Given the description of an element on the screen output the (x, y) to click on. 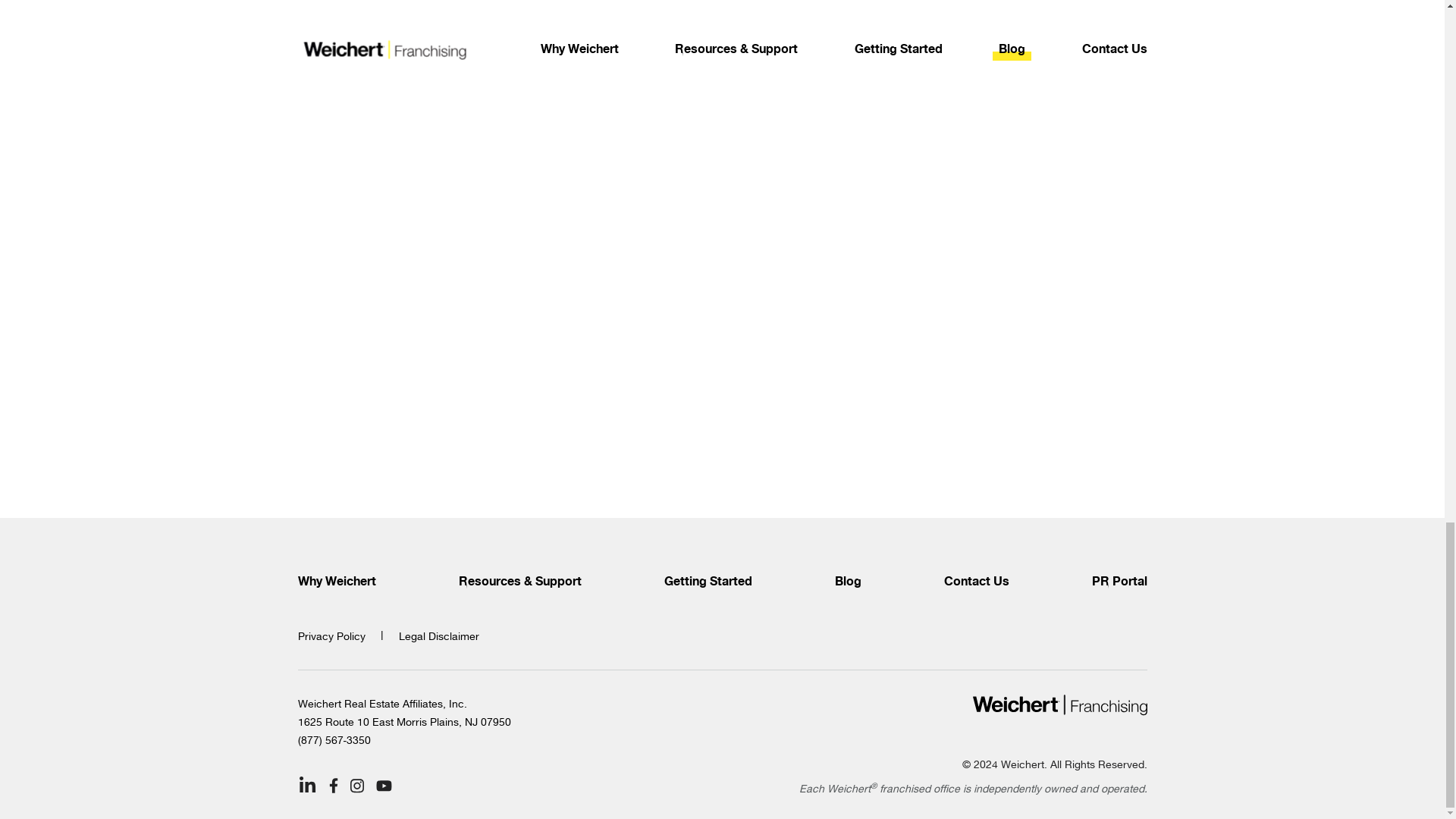
Privacy Policy (331, 635)
Legal Disclaimer (438, 635)
Getting Started (707, 581)
Contact Us (976, 581)
Why Weichert (336, 581)
Blog (847, 581)
PR Portal (1119, 581)
